Given the description of an element on the screen output the (x, y) to click on. 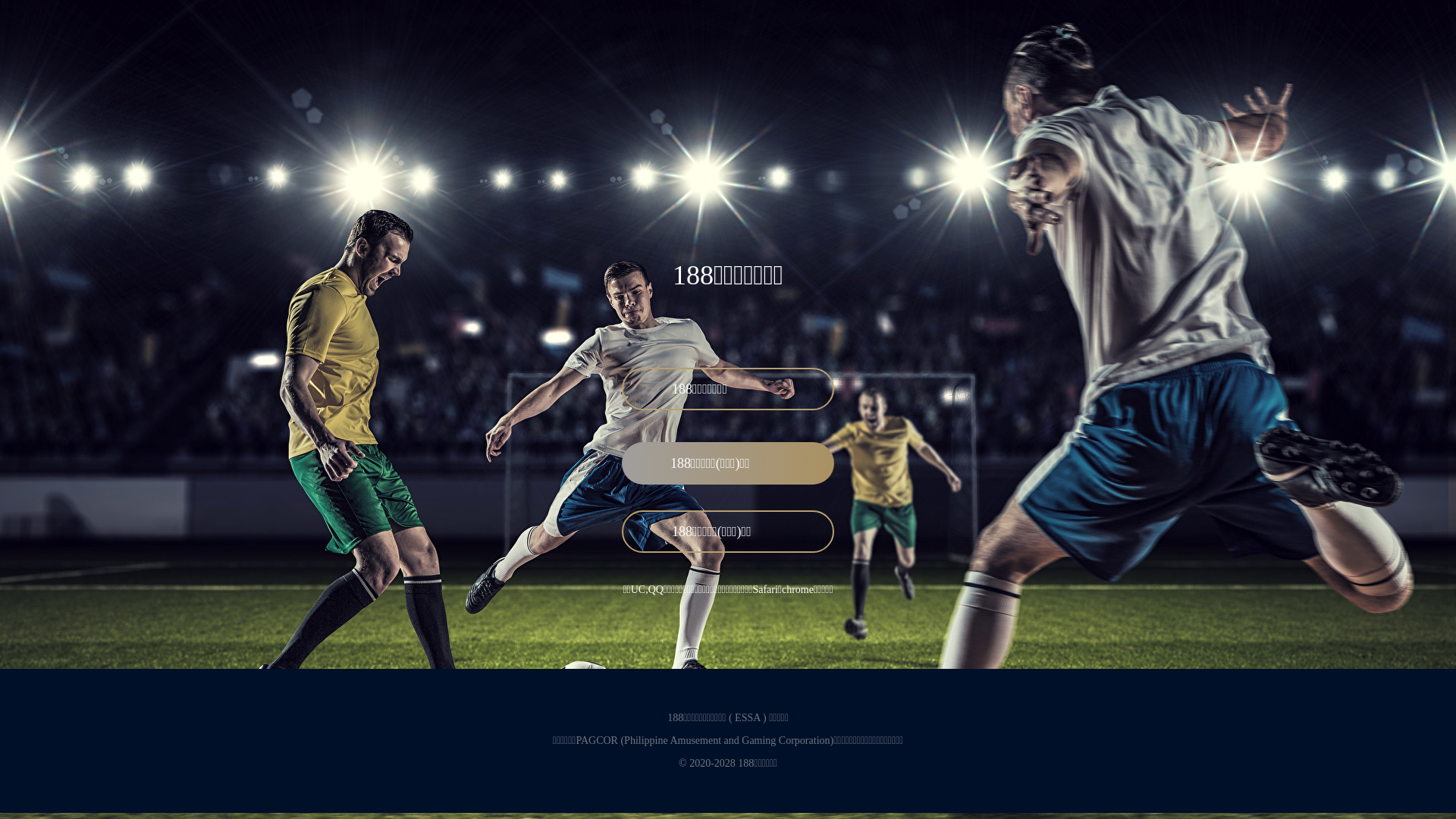
  Element type: text (980, 282)
